Given the description of an element on the screen output the (x, y) to click on. 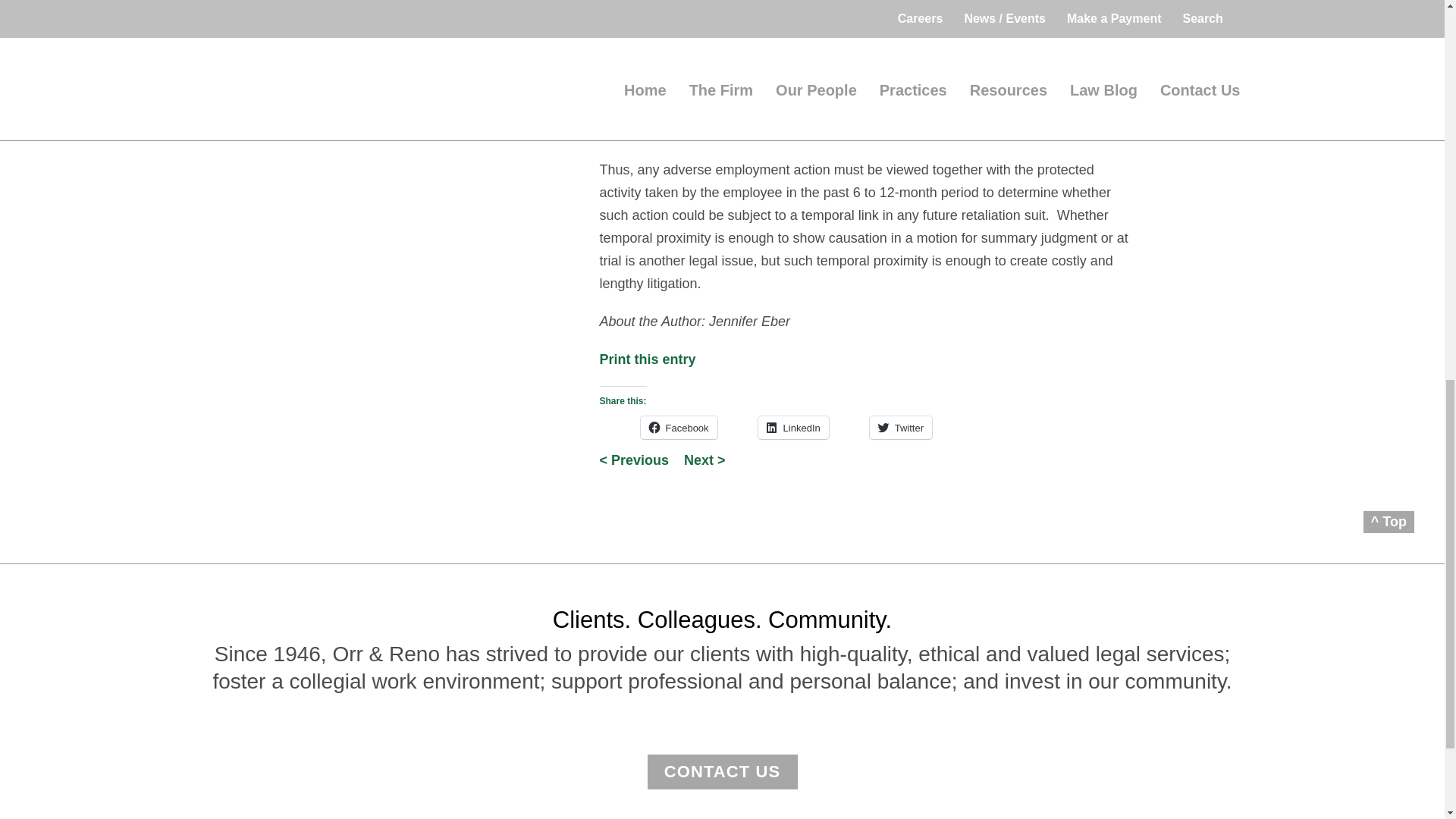
CONTACT US (722, 771)
Click to share on Facebook (678, 427)
Print this entry (646, 359)
Facebook (678, 427)
LinkedIn (793, 427)
Click to share on LinkedIn (793, 427)
Click to share on Twitter (900, 427)
Twitter (900, 427)
